Given the description of an element on the screen output the (x, y) to click on. 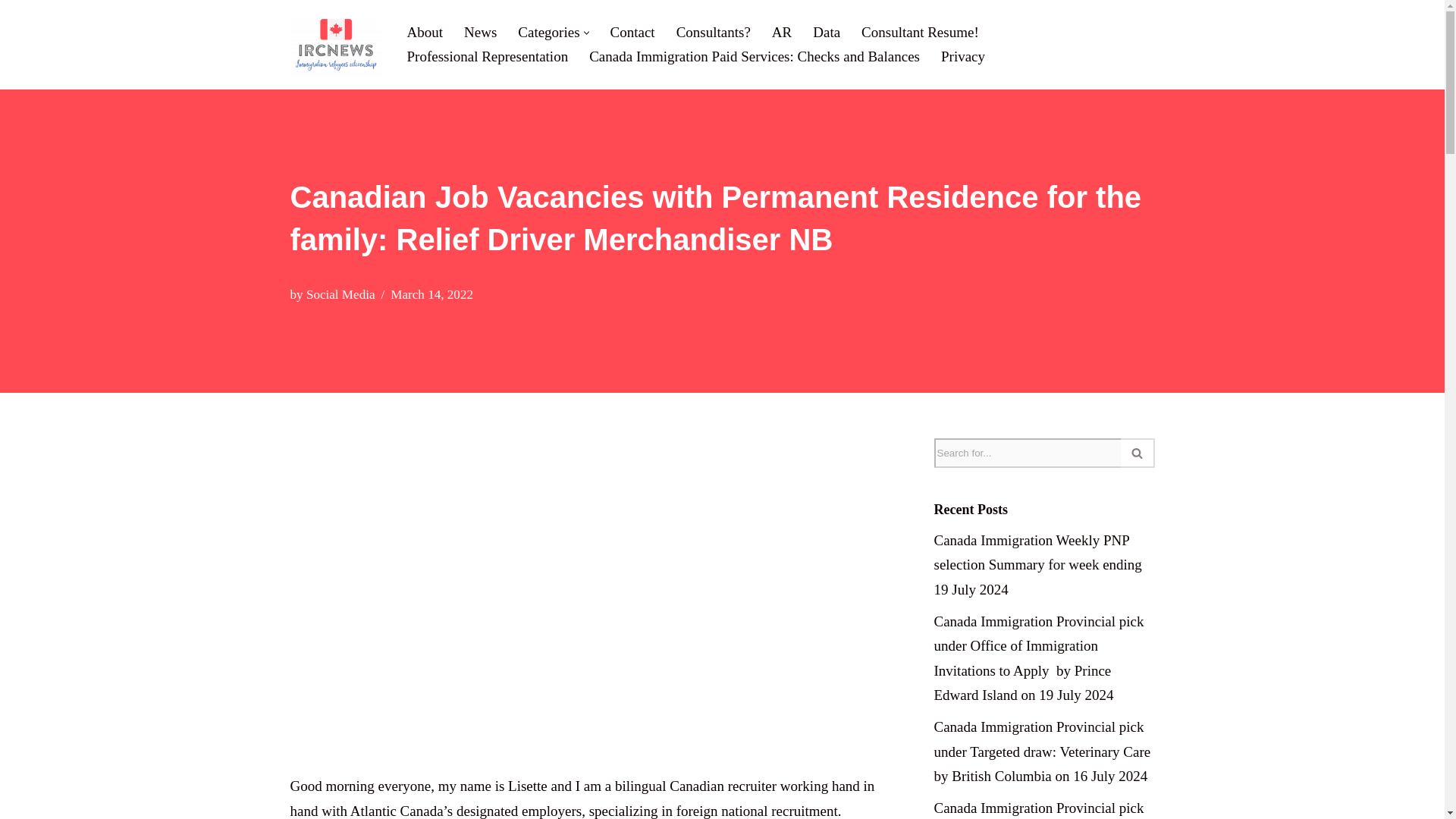
Data (826, 32)
News (480, 32)
Consultants? (714, 32)
Professional Representation (486, 56)
Categories (548, 32)
Contact (632, 32)
Privacy (962, 56)
About (424, 32)
Posts by Social Media (340, 294)
Canada Immigration Paid Services: Checks and Balances (754, 56)
Consultant Resume! (919, 32)
Skip to content (11, 31)
